Given the description of an element on the screen output the (x, y) to click on. 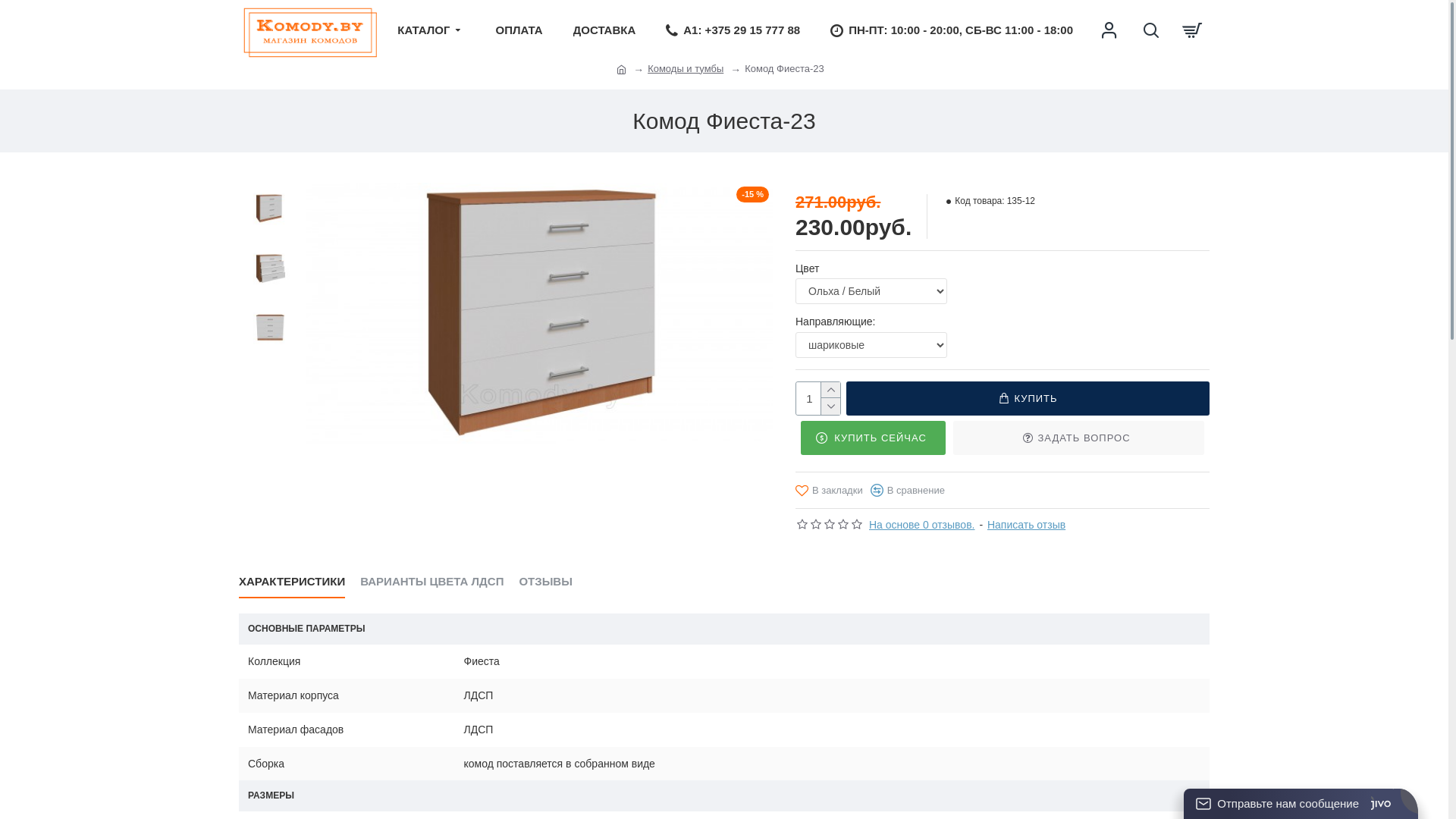
Komody.by Element type: hover (310, 32)
